Given the description of an element on the screen output the (x, y) to click on. 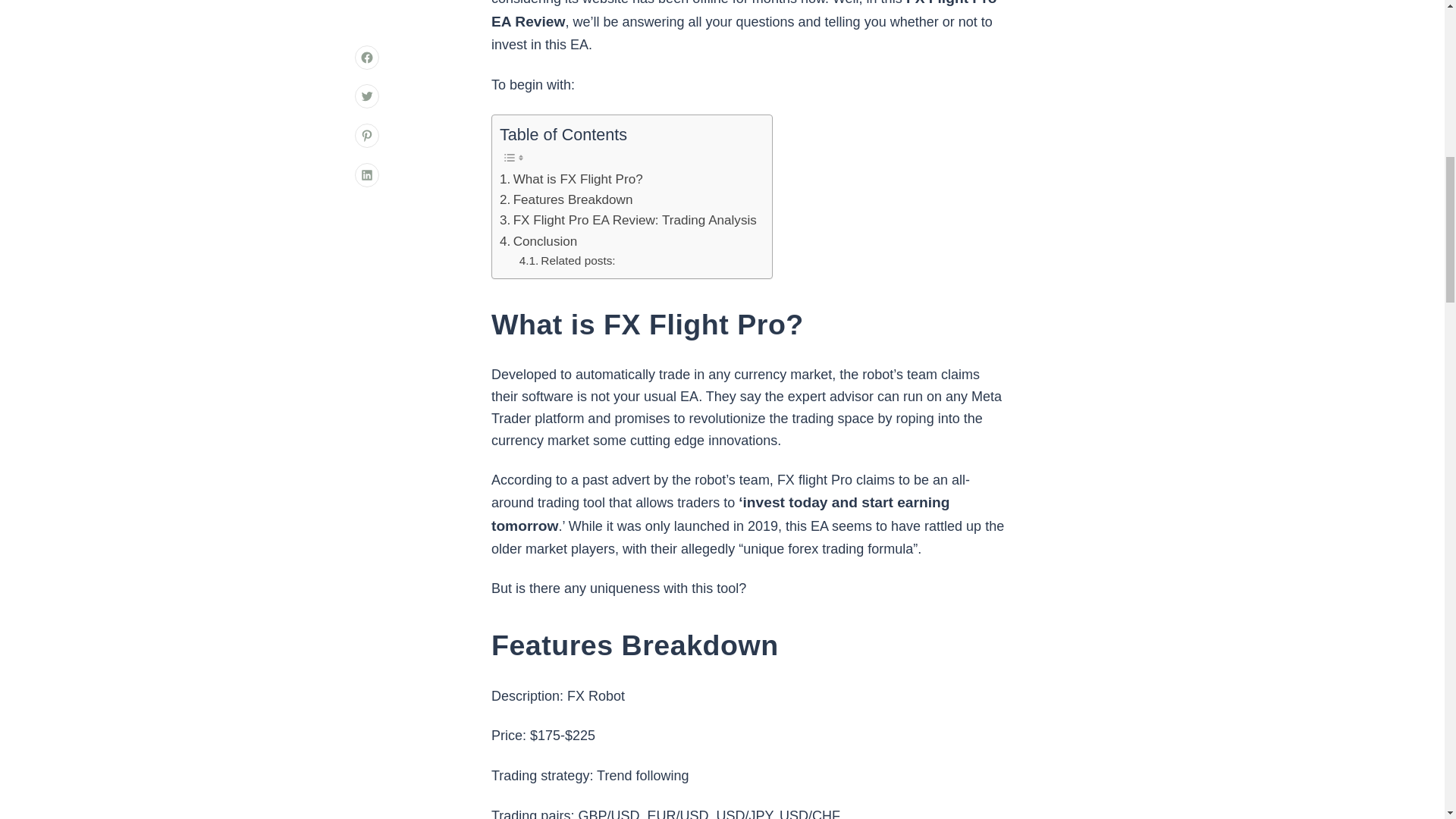
Related posts: (567, 261)
What is FX Flight Pro? (571, 178)
Conclusion (537, 240)
Related posts: (567, 261)
FX Flight Pro EA Review: Trading Analysis (628, 219)
Features Breakdown (565, 199)
Features Breakdown (565, 199)
Conclusion (537, 240)
FX Flight Pro EA Review: Trading Analysis (628, 219)
What is FX Flight Pro? (571, 178)
